Given the description of an element on the screen output the (x, y) to click on. 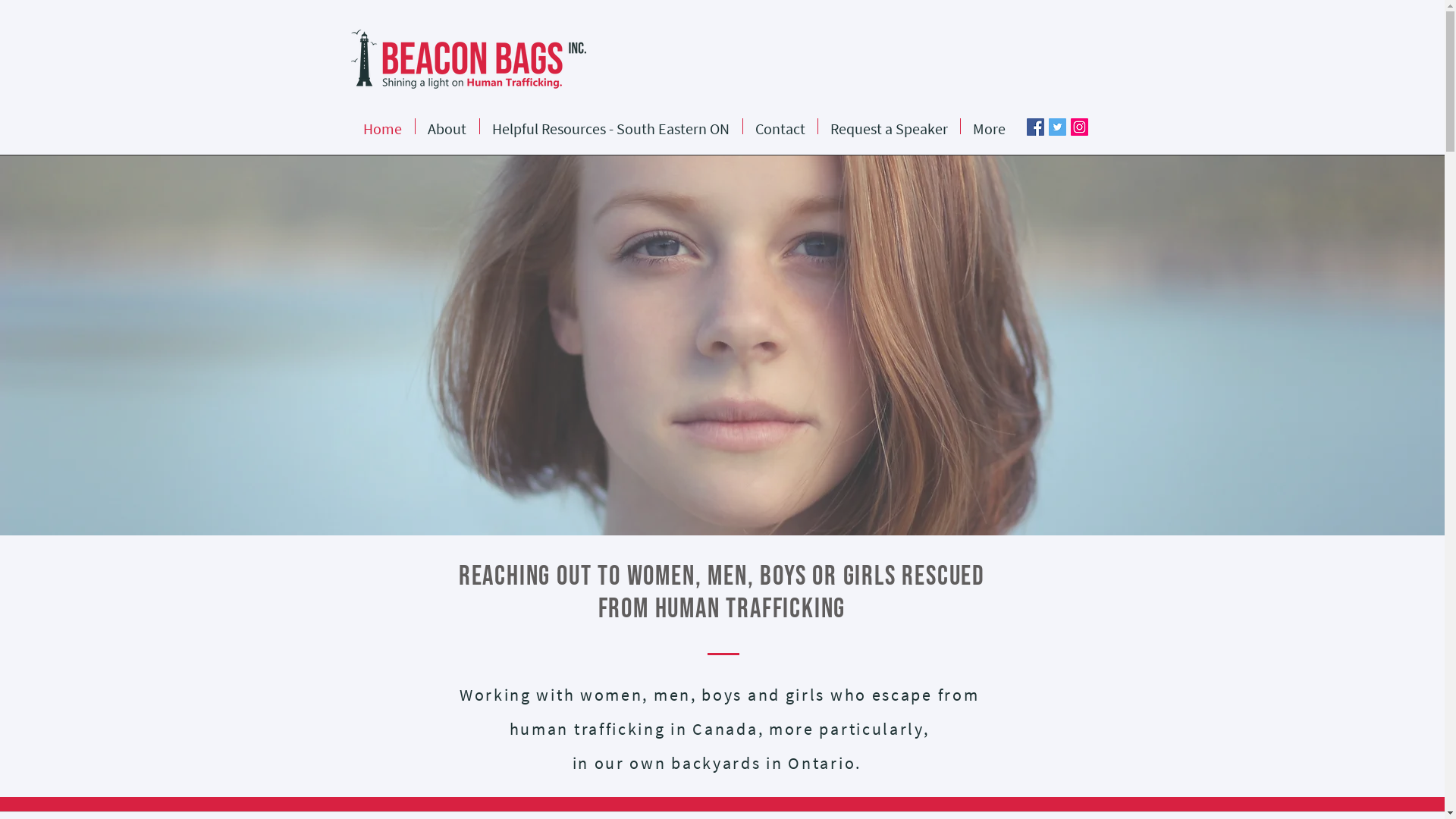
Home Element type: text (382, 126)
Helpful Resources - South Eastern ON Element type: text (610, 126)
Contact Element type: text (780, 126)
Request a Speaker Element type: text (888, 126)
About Element type: text (447, 126)
